Given the description of an element on the screen output the (x, y) to click on. 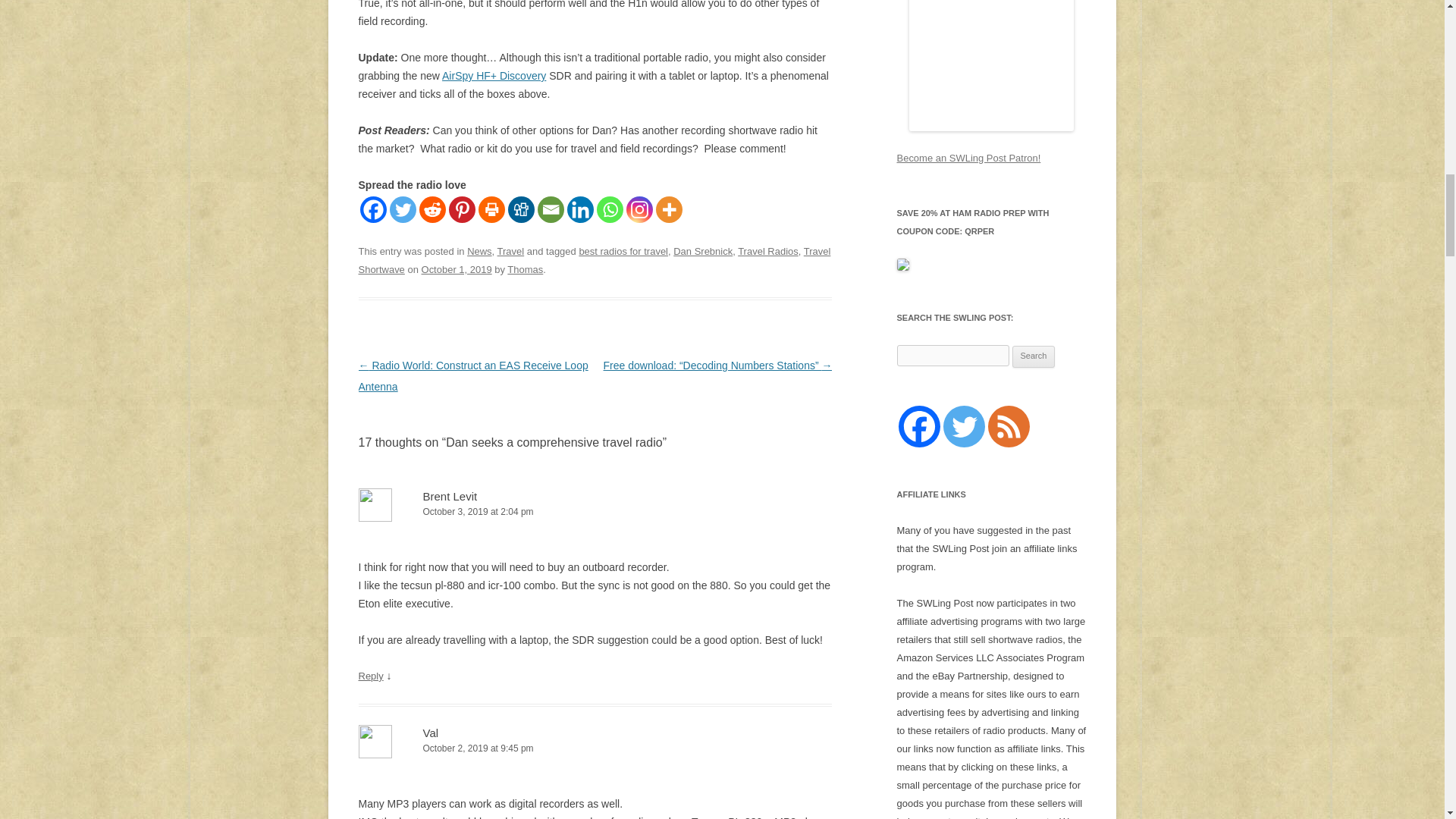
Instagram (639, 209)
Digg (521, 209)
Search (1033, 356)
Twitter (403, 209)
View all posts by Thomas (524, 269)
Email (550, 209)
Whatsapp (609, 209)
Pinterest (462, 209)
best radios for travel (623, 251)
Print (490, 209)
News (479, 251)
Dan Srebnick (702, 251)
Travel (510, 251)
Travel Radios (767, 251)
Reddit (432, 209)
